Given the description of an element on the screen output the (x, y) to click on. 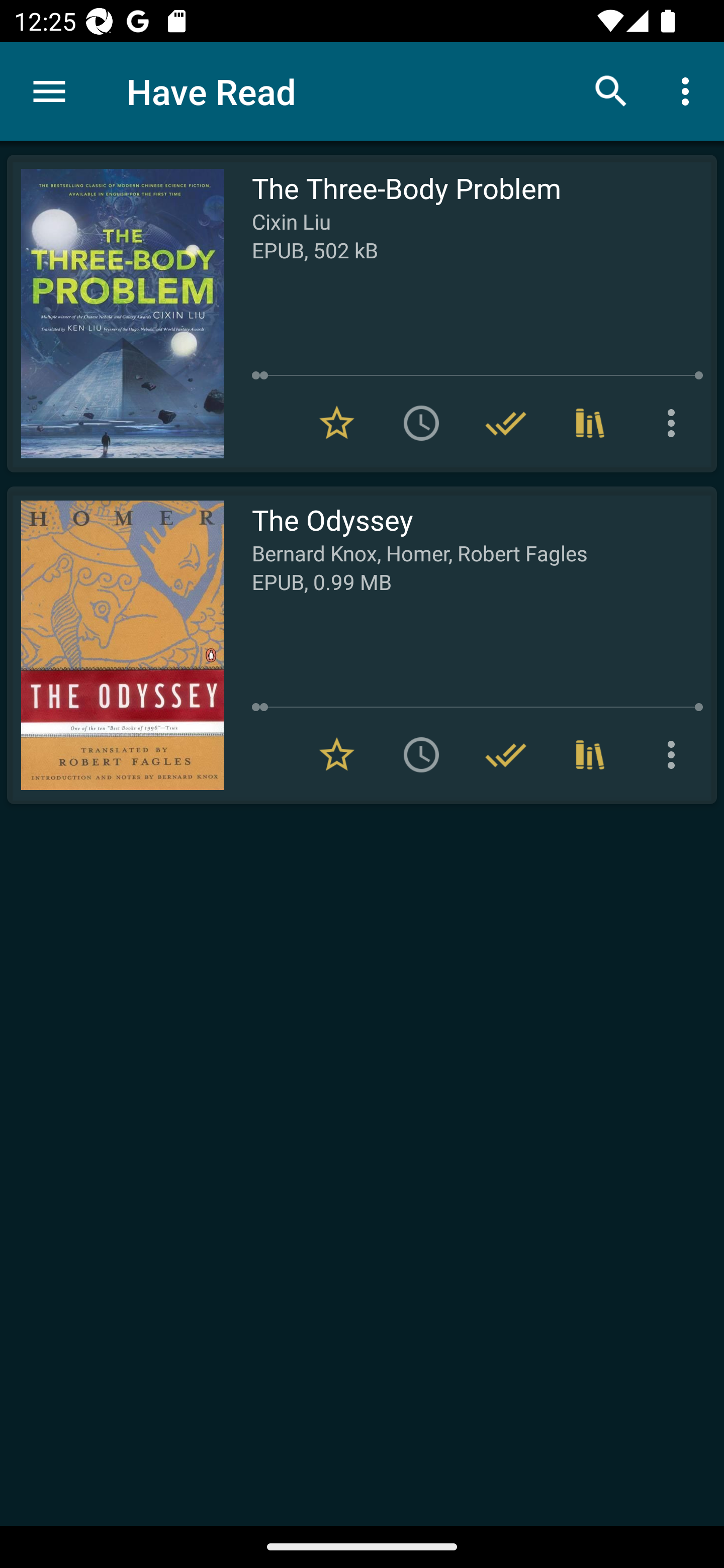
Menu (49, 91)
Search books & documents (611, 90)
More options (688, 90)
Read The Three-Body Problem (115, 313)
Remove from Favorites (336, 423)
Add to To read (421, 423)
Remove from Have read (505, 423)
Collections (1) (590, 423)
More options (674, 423)
Read The Odyssey (115, 645)
Remove from Favorites (336, 753)
Add to To read (421, 753)
Remove from Have read (505, 753)
Collections (2) (590, 753)
More options (674, 753)
